Given the description of an element on the screen output the (x, y) to click on. 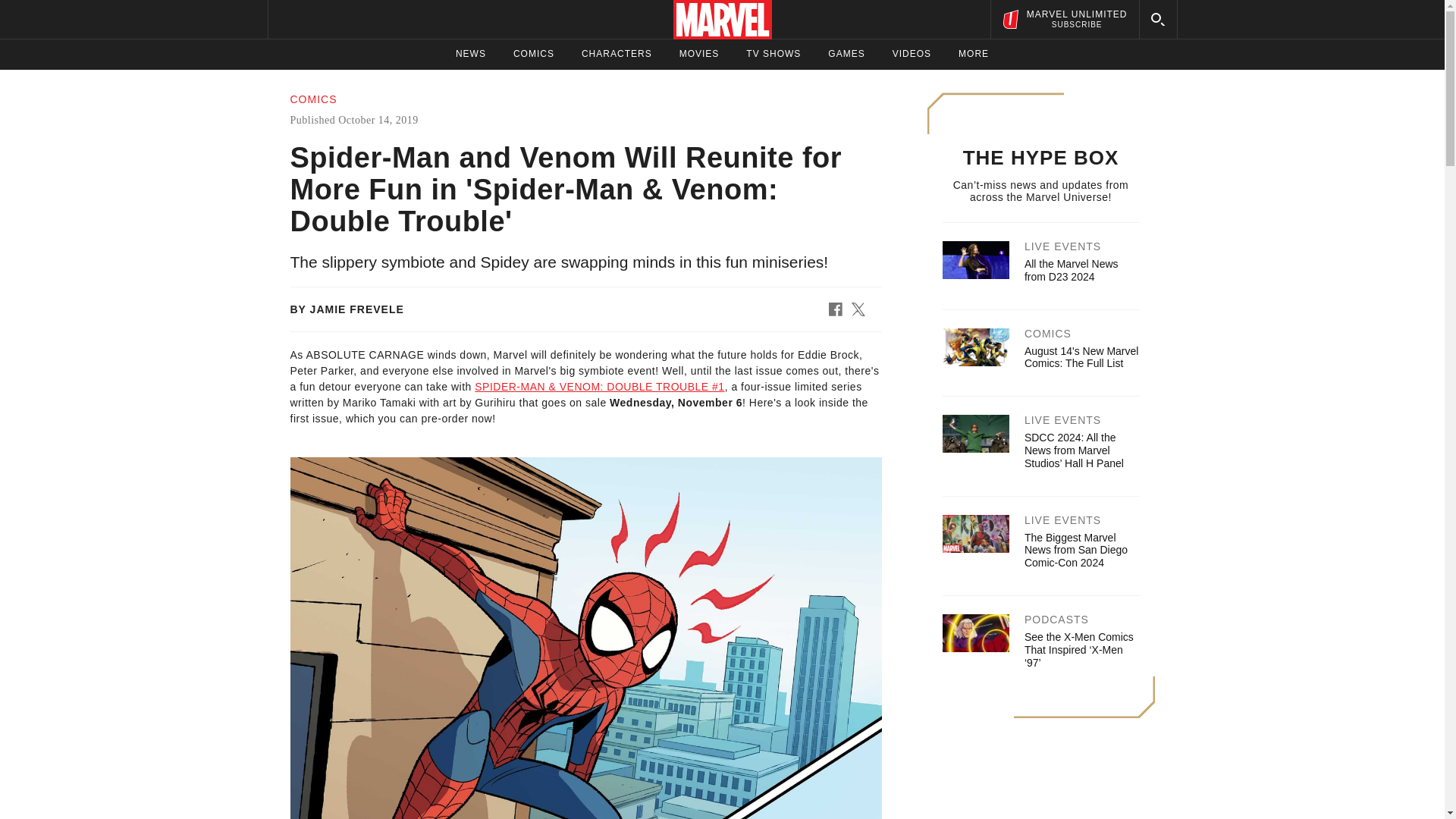
All the Marvel News from D23 2024 (1071, 269)
CHARACTERS (616, 54)
VIDEOS (911, 54)
MOVIES (699, 54)
MORE (973, 54)
August 14's New Marvel Comics: The Full List (1081, 357)
NEWS (470, 54)
GAMES (846, 54)
COMICS (1064, 19)
